Given the description of an element on the screen output the (x, y) to click on. 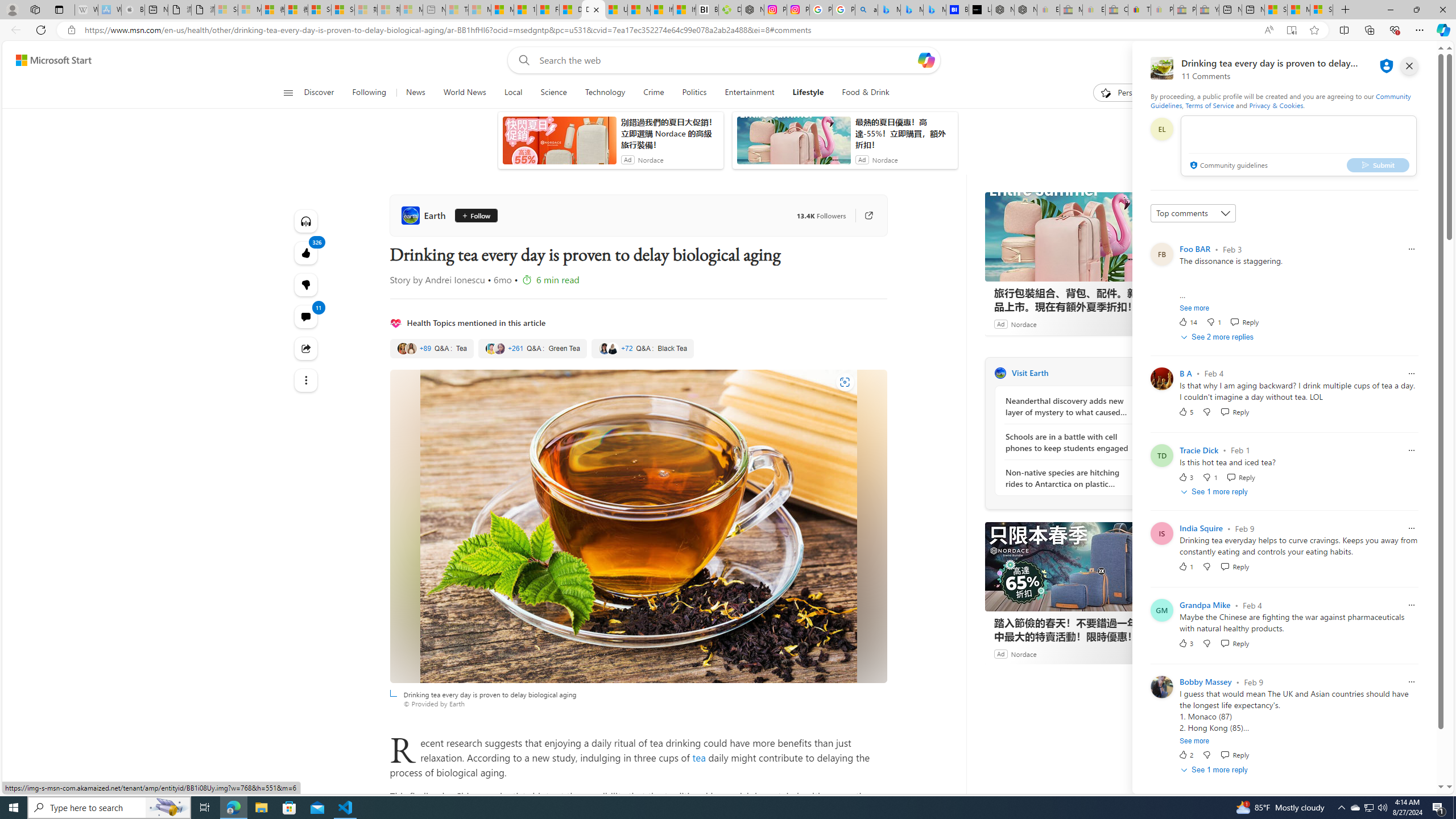
Submit (1377, 164)
Marine life - MSN - Sleeping (479, 9)
Technology (604, 92)
14 Like (1187, 321)
Read aloud this page (Ctrl+Shift+U) (1268, 29)
Personal Profile (12, 9)
India Squire (1201, 528)
Microsoft rewards (1374, 60)
Open Copilot (926, 59)
Ad (999, 653)
